Given the description of an element on the screen output the (x, y) to click on. 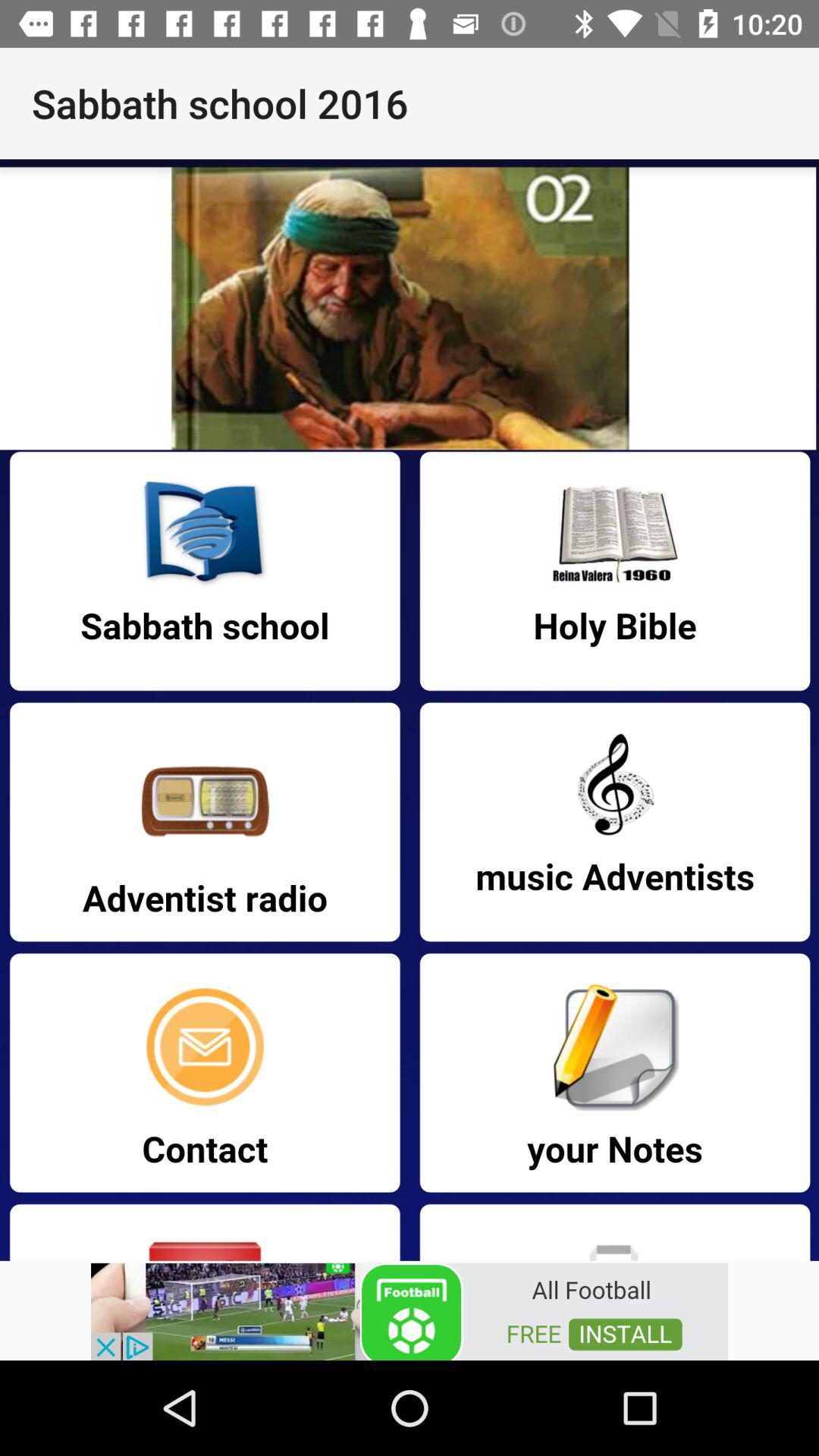
open advertisement (409, 1310)
